Given the description of an element on the screen output the (x, y) to click on. 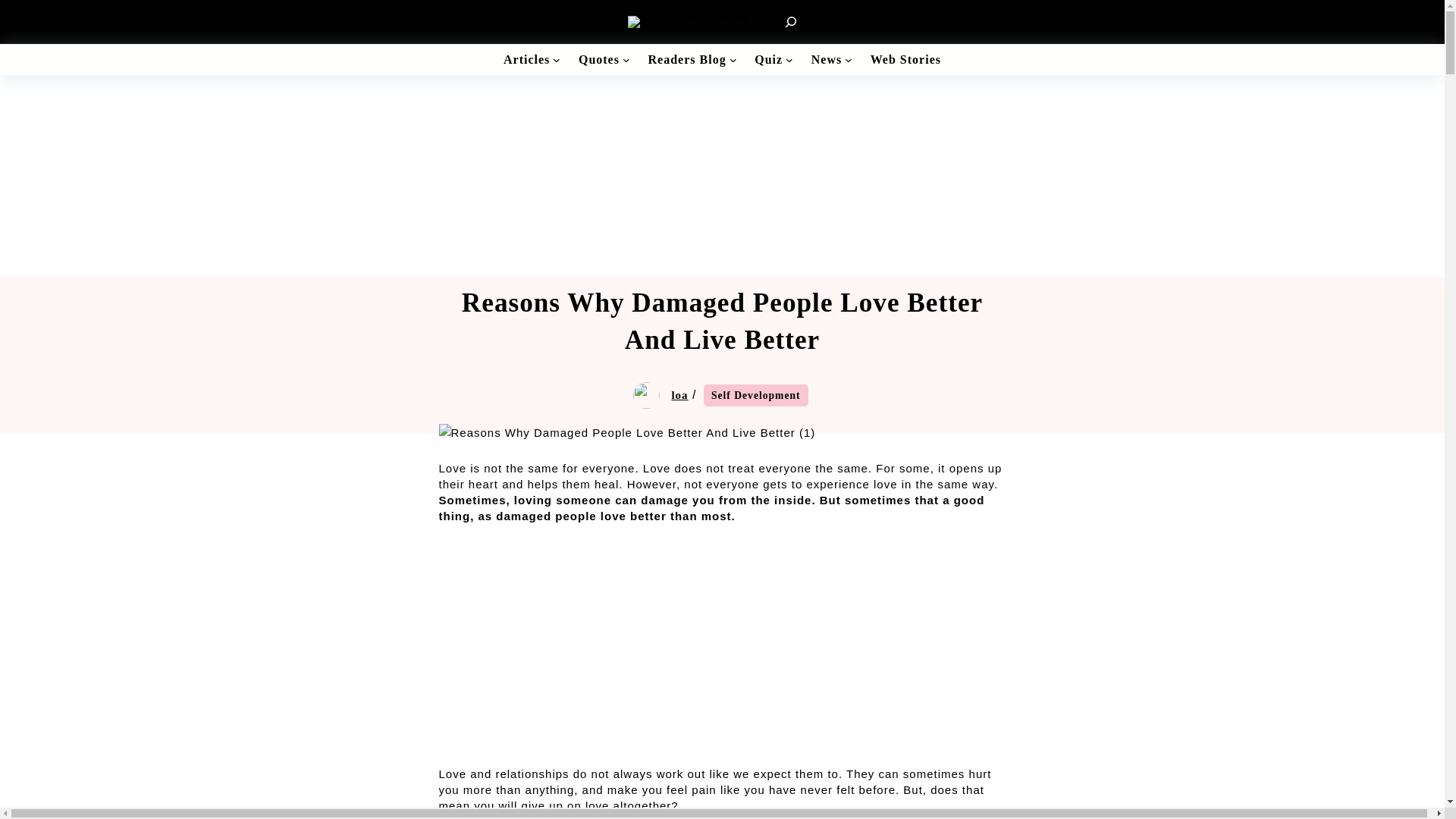
Reasons Why Damaged People Love Better And Live Better (626, 433)
Advertisement (722, 653)
